Given the description of an element on the screen output the (x, y) to click on. 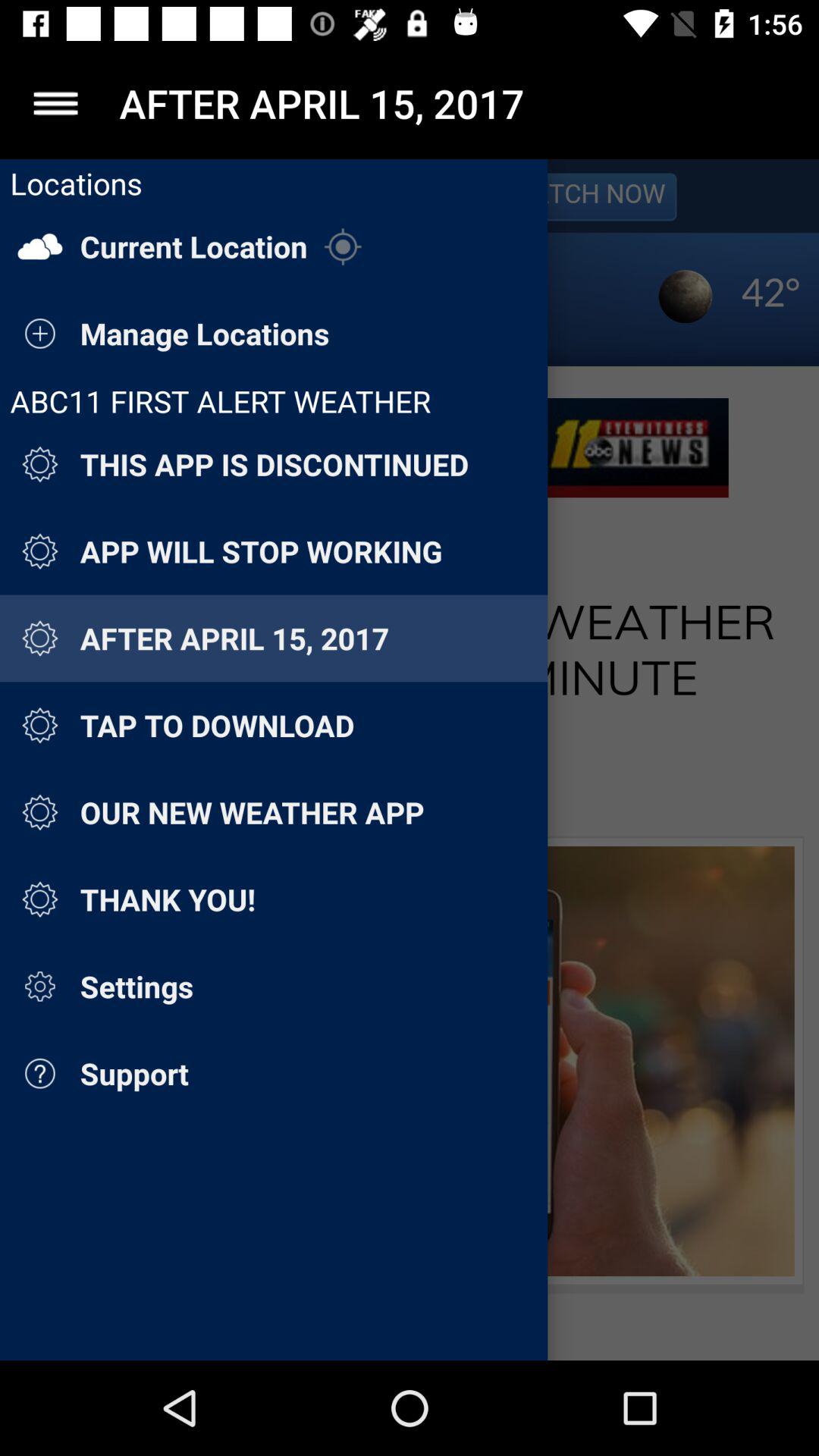
open settings (55, 103)
